Given the description of an element on the screen output the (x, y) to click on. 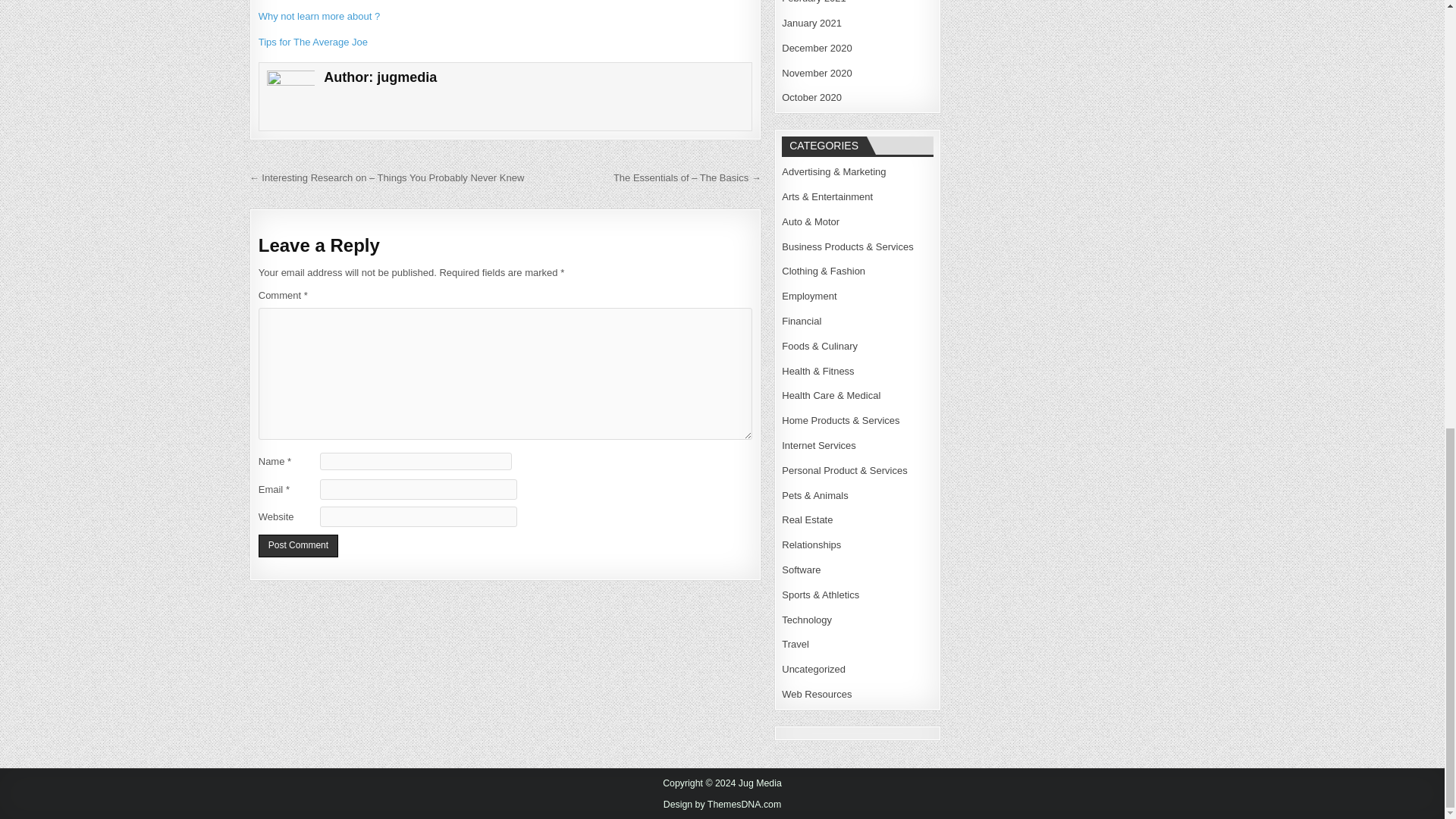
Post Comment (298, 545)
Tips for The Average Joe (313, 41)
Post Comment (298, 545)
Why not learn more about ? (319, 16)
